Given the description of an element on the screen output the (x, y) to click on. 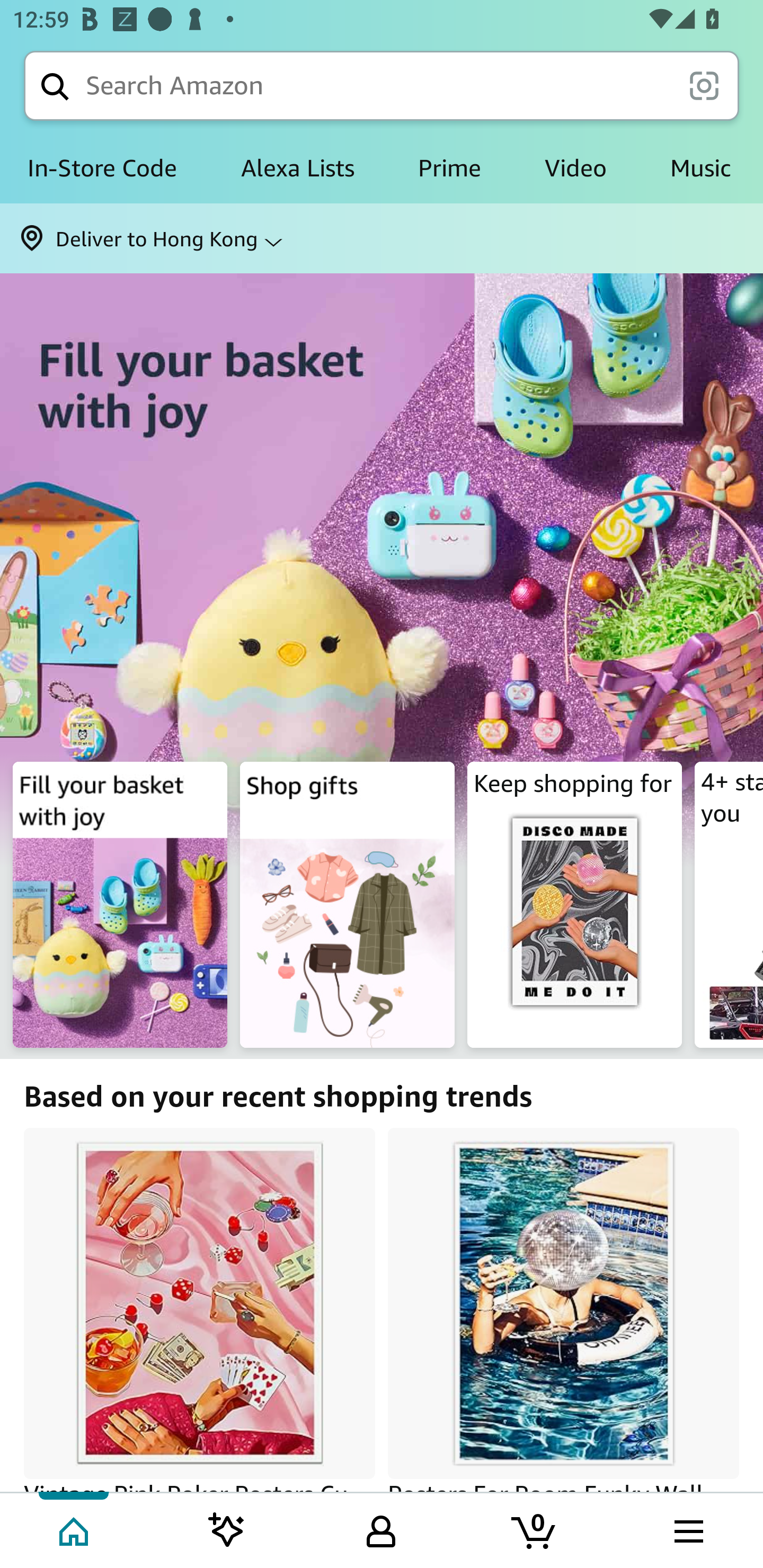
Search Search Search Amazon scan it (381, 85)
scan it (704, 85)
In-Store Code (104, 168)
Alexa Lists (297, 168)
Prime (449, 168)
Video (575, 168)
Music (700, 168)
Deliver to Hong Kong ⌵ (381, 237)
Fill your basket with joy (381, 513)
Home Tab 1 of 5 (75, 1529)
Inspire feed Tab 2 of 5 (227, 1529)
Your Amazon.com Tab 3 of 5 (380, 1529)
Cart 0 item Tab 4 of 5 0 (534, 1529)
Browse menu Tab 5 of 5 (687, 1529)
